Given the description of an element on the screen output the (x, y) to click on. 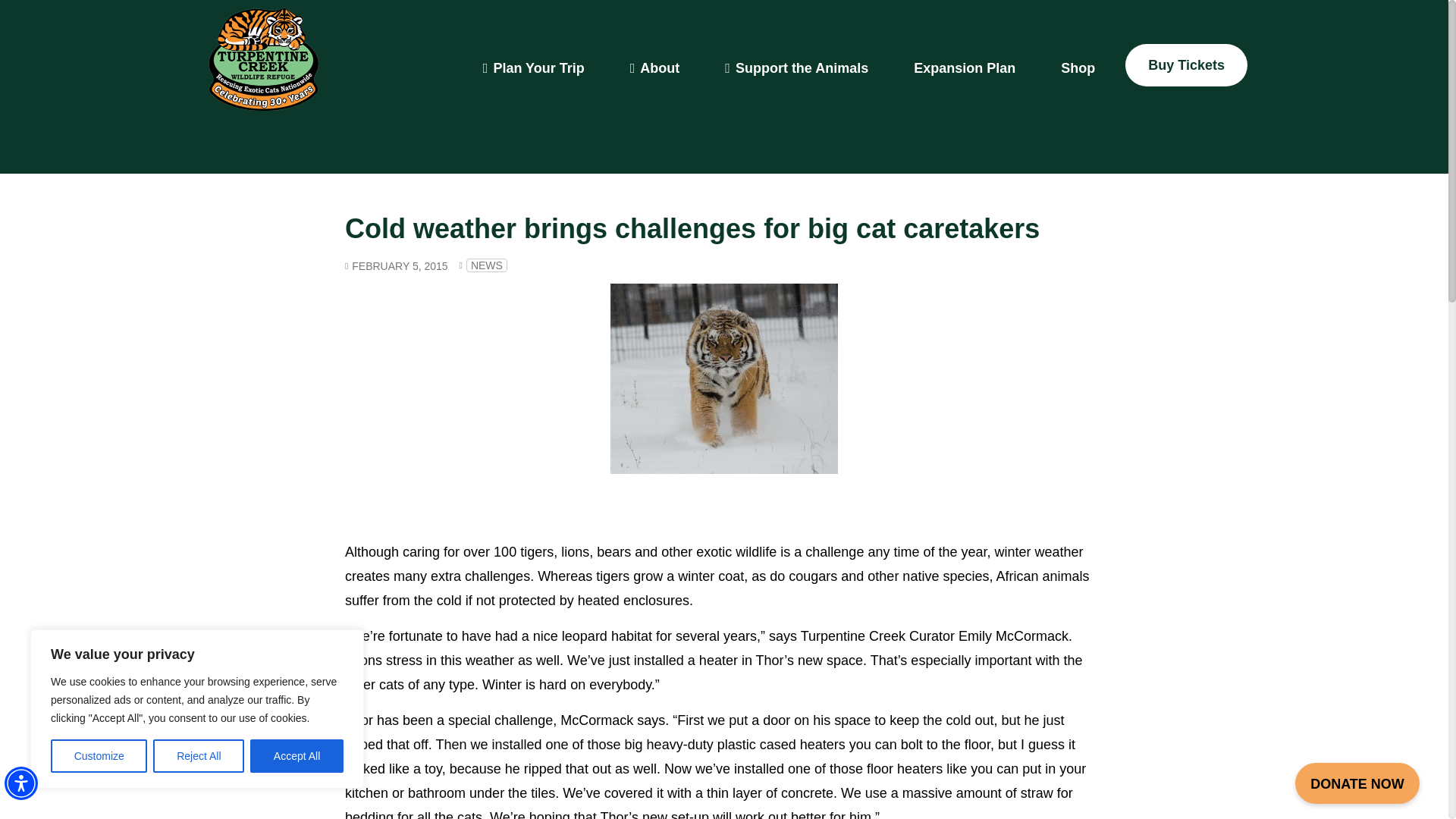
Accept All (296, 756)
About (655, 68)
Customize (98, 756)
Reject All (198, 756)
Plan Your Trip (533, 68)
Support the Animals (796, 68)
Accessibility Menu (20, 783)
